Given the description of an element on the screen output the (x, y) to click on. 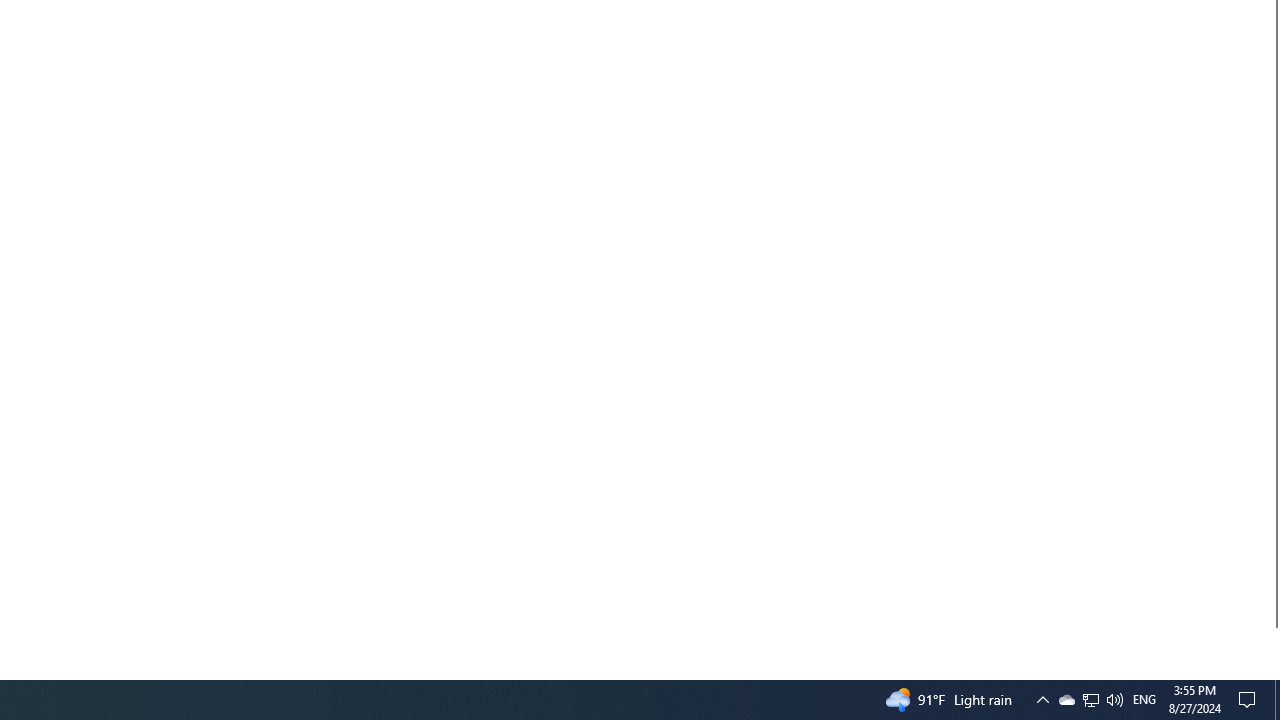
Vertical Large Increase (1272, 645)
Vertical Small Increase (1272, 671)
